Given the description of an element on the screen output the (x, y) to click on. 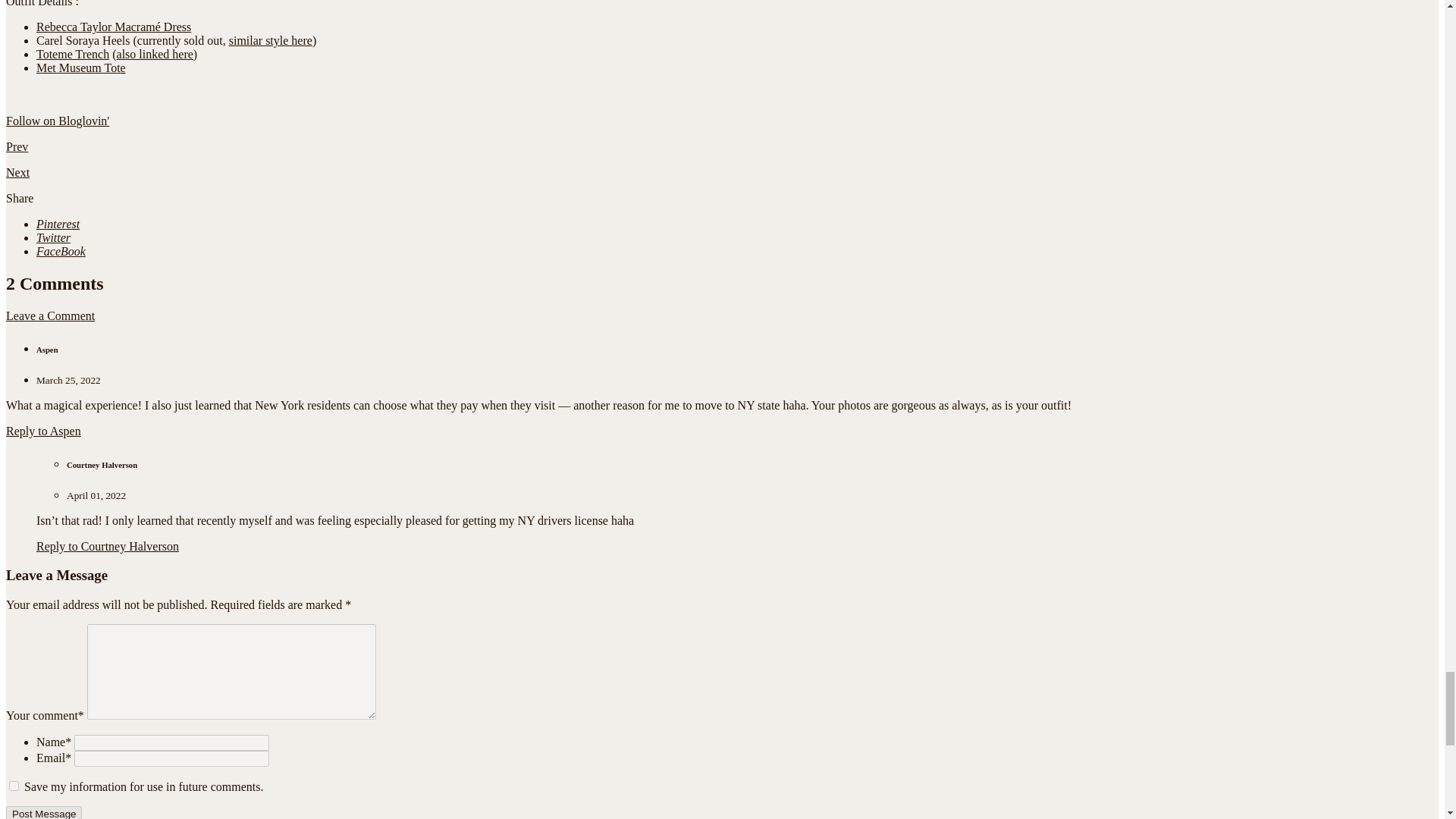
Share on Twitter (52, 237)
Post Message (43, 812)
Share on Facebook (60, 250)
Share on Pinterest (58, 223)
yes (13, 786)
